Given the description of an element on the screen output the (x, y) to click on. 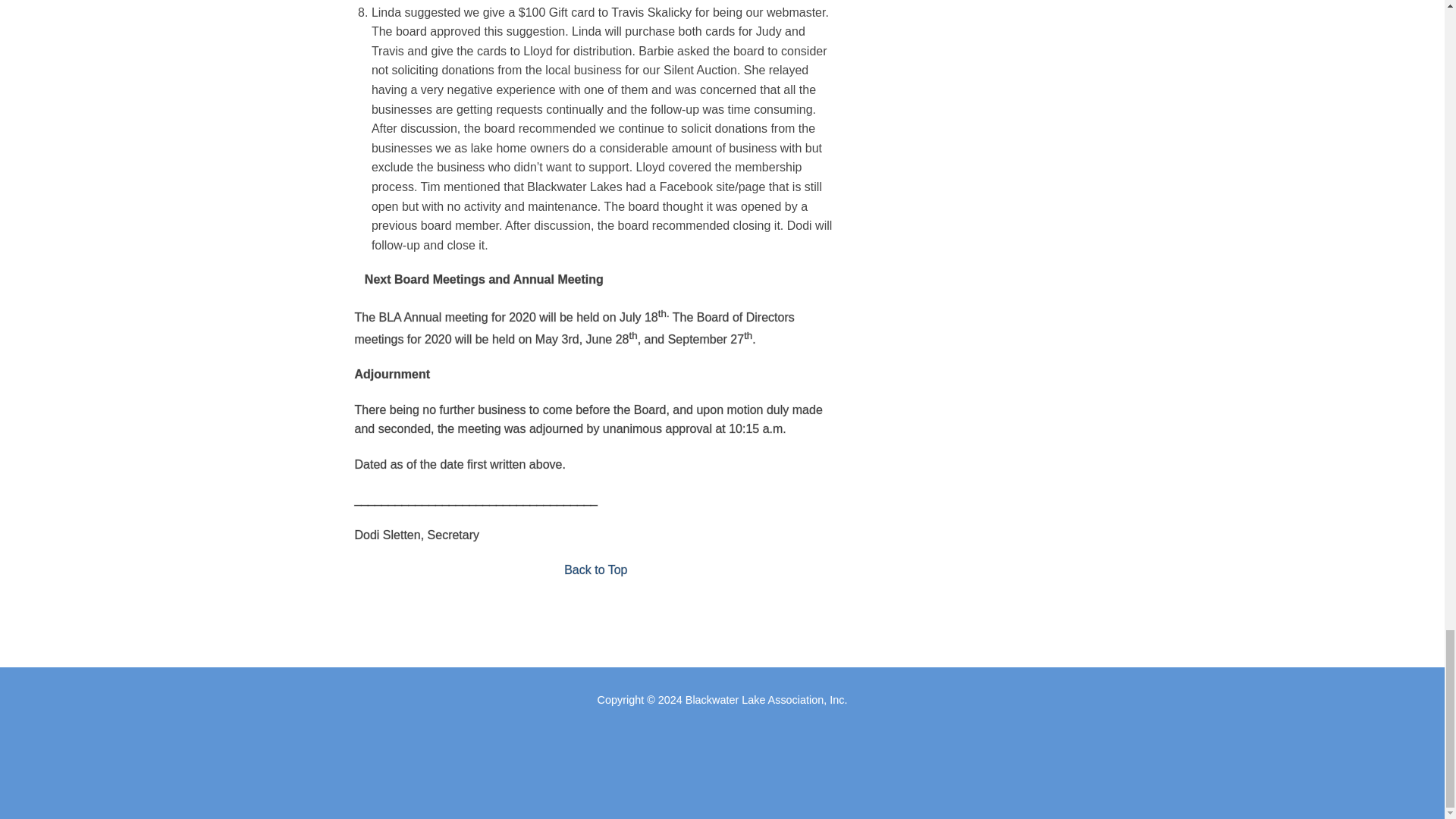
Back to Top (595, 569)
Blackwater Lake Association, Inc. (766, 699)
